Given the description of an element on the screen output the (x, y) to click on. 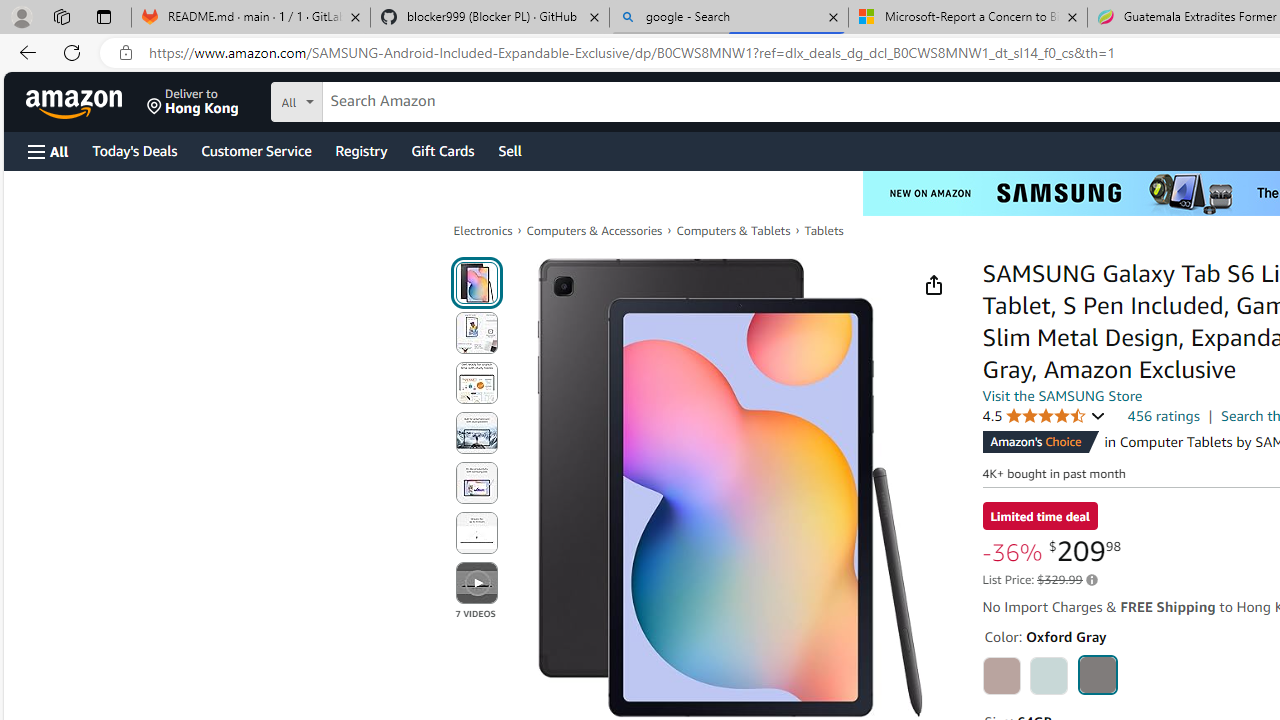
Electronics (483, 230)
Tablets (823, 230)
Today's Deals (134, 150)
Electronics (483, 230)
Oxford Gray (1097, 674)
Open Menu (48, 151)
Deliver to Hong Kong (193, 101)
456 ratings (1163, 415)
Search in (371, 99)
